Given the description of an element on the screen output the (x, y) to click on. 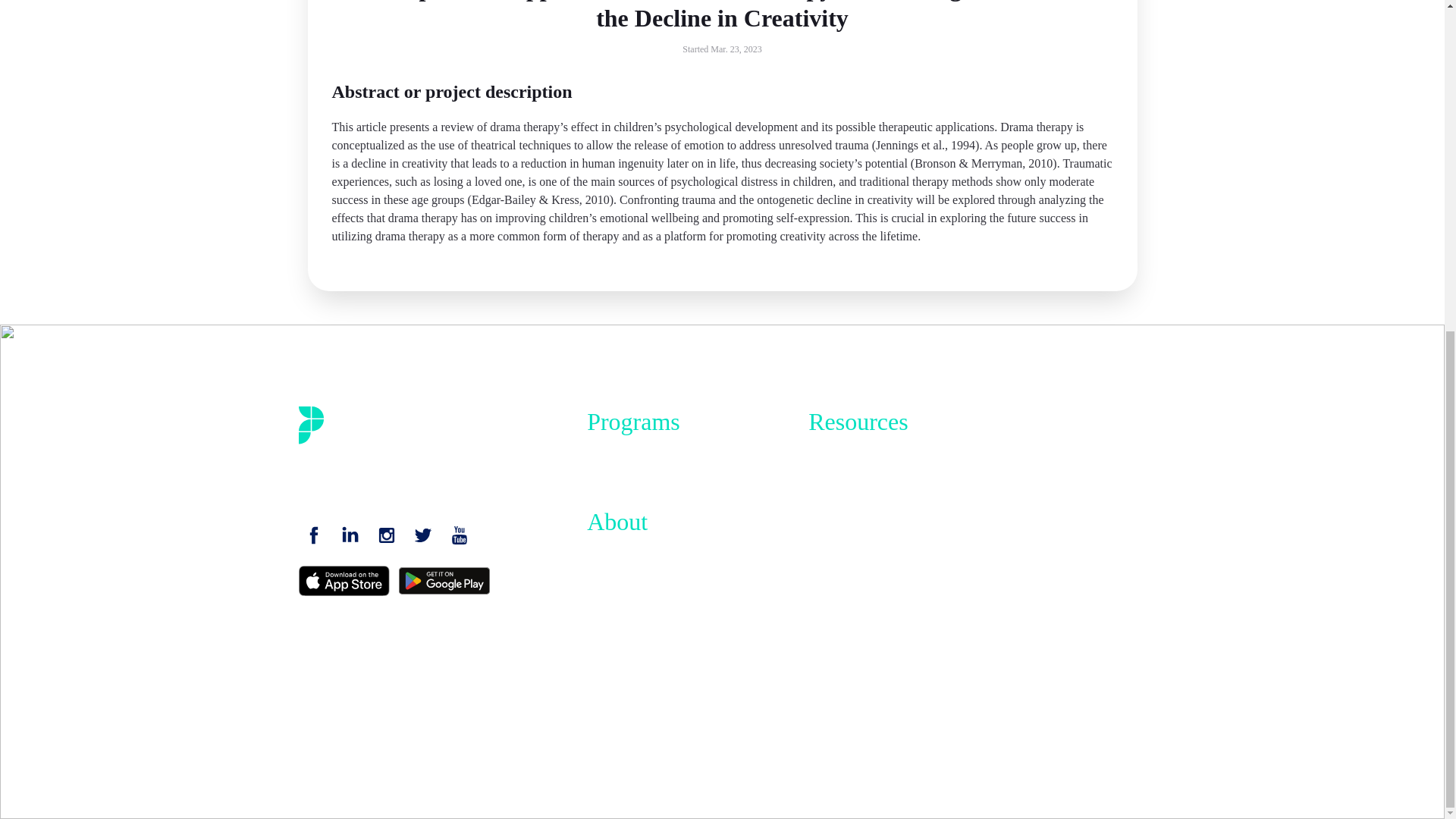
Team (599, 574)
Education Consultants (862, 516)
Research Archive (850, 665)
Symposium (837, 644)
Student FAQ (840, 558)
Thought Leadership (856, 722)
Reviews (829, 622)
Blog (819, 537)
Mentors (828, 473)
Core Program (620, 452)
